Given the description of an element on the screen output the (x, y) to click on. 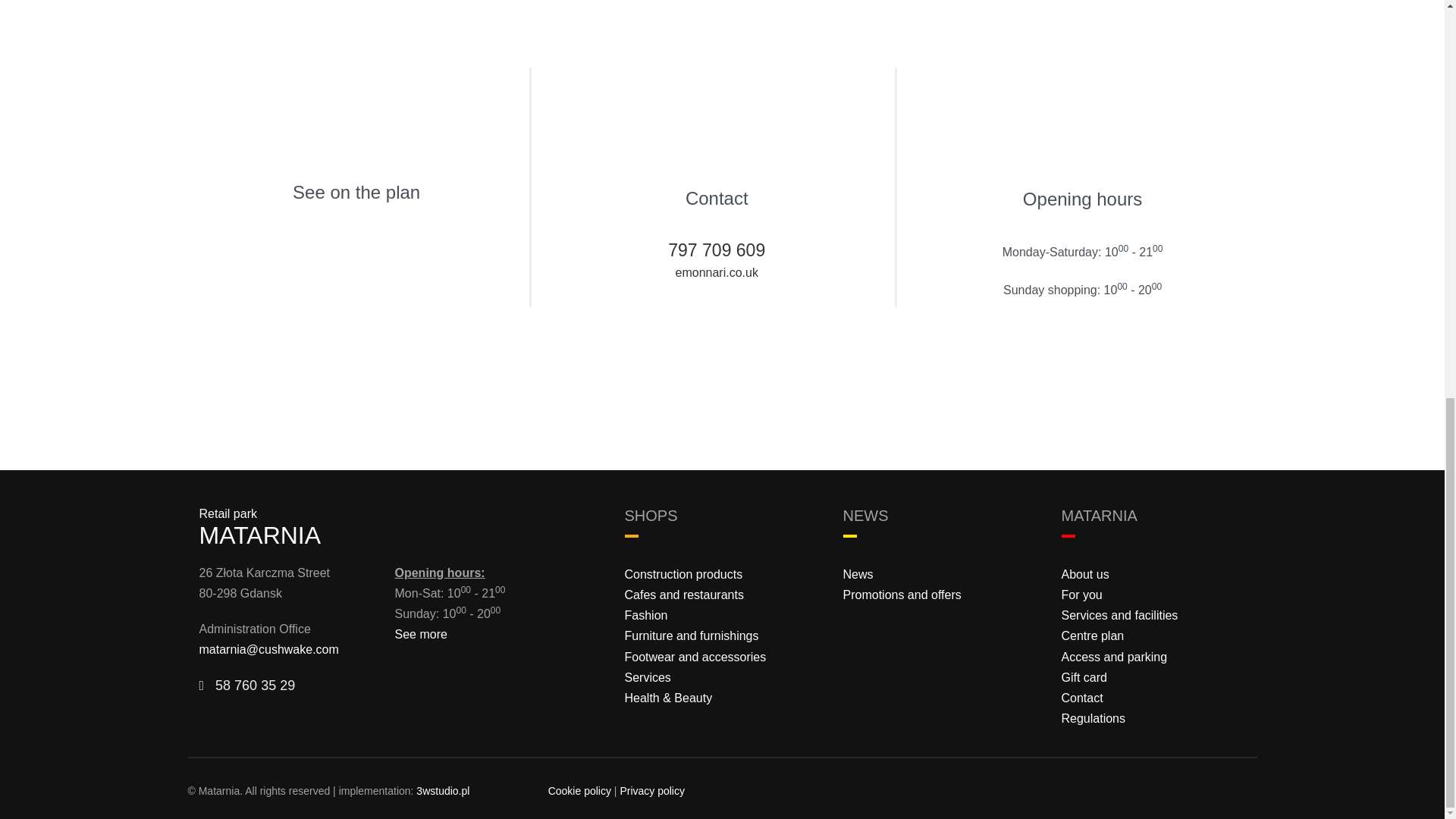
Ukrainian (1234, 792)
English (1214, 792)
Polish (1192, 792)
3W Studio Interactive Agency (442, 790)
